Given the description of an element on the screen output the (x, y) to click on. 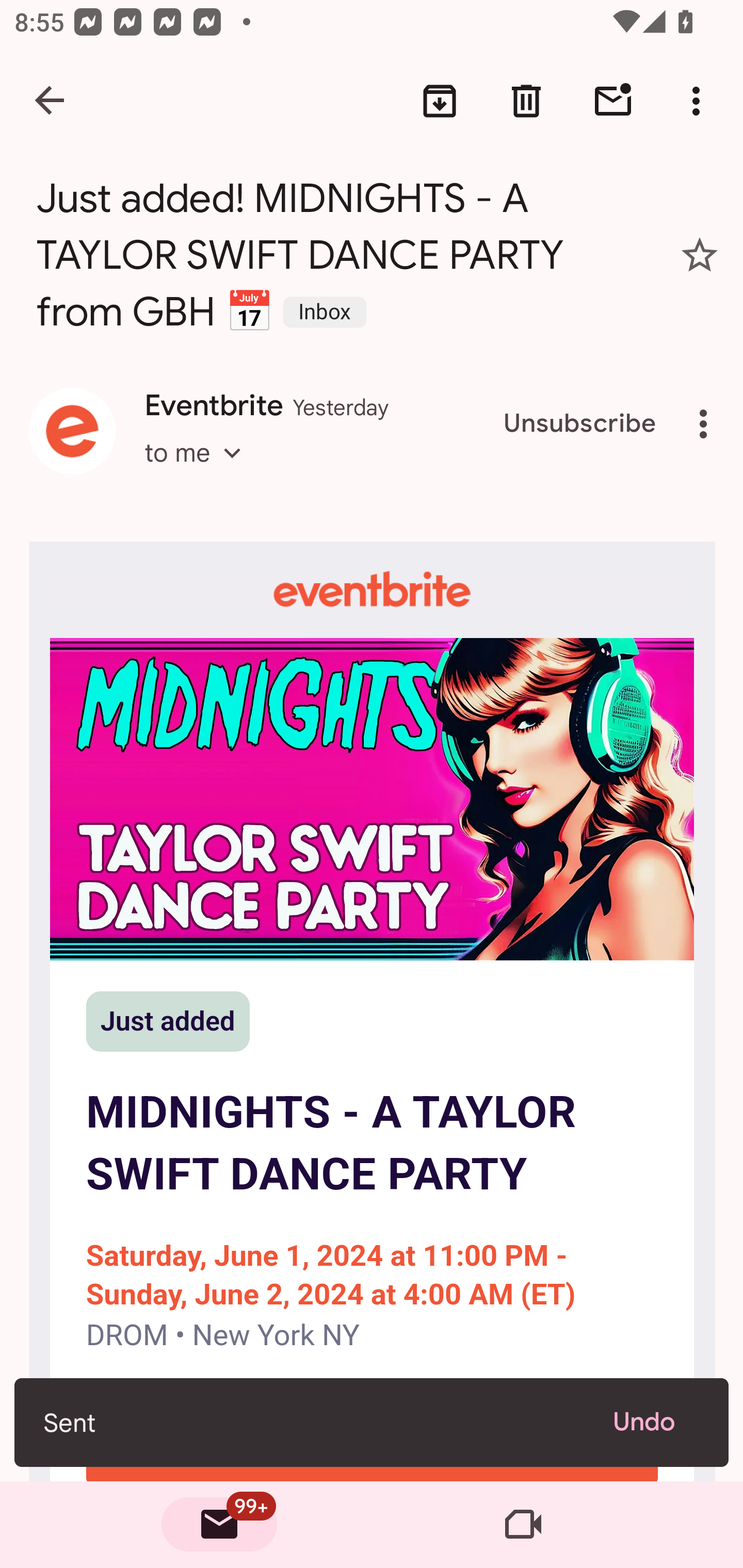
Navigate up (50, 101)
Archive (439, 101)
Delete (525, 101)
Mark unread (612, 101)
More options (699, 101)
Add star (699, 254)
Unsubscribe (579, 424)
More options (706, 424)
Show contact information for Eventbrite (71, 431)
to me (199, 471)
MIDNIGHTS - A TAYLOR SWIFT DANCE PARTY (371, 798)
MIDNIGHTS - A TAYLOR SWIFT DANCE PARTY (371, 1143)
Meet (523, 1524)
